Given the description of an element on the screen output the (x, y) to click on. 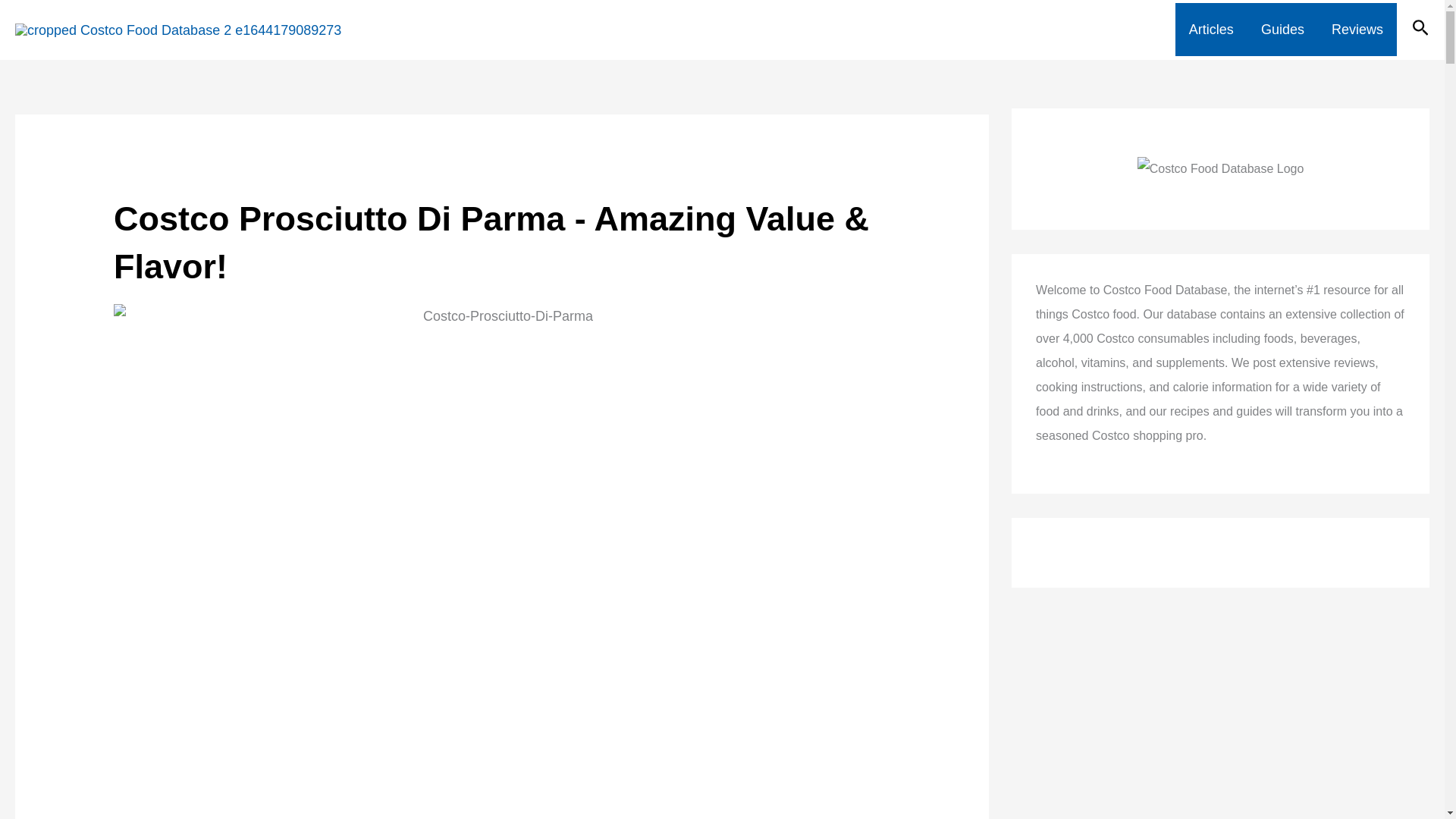
Reviews (1356, 29)
Articles (1210, 29)
Guides (1282, 29)
Costco Food Database (500, 29)
